Given the description of an element on the screen output the (x, y) to click on. 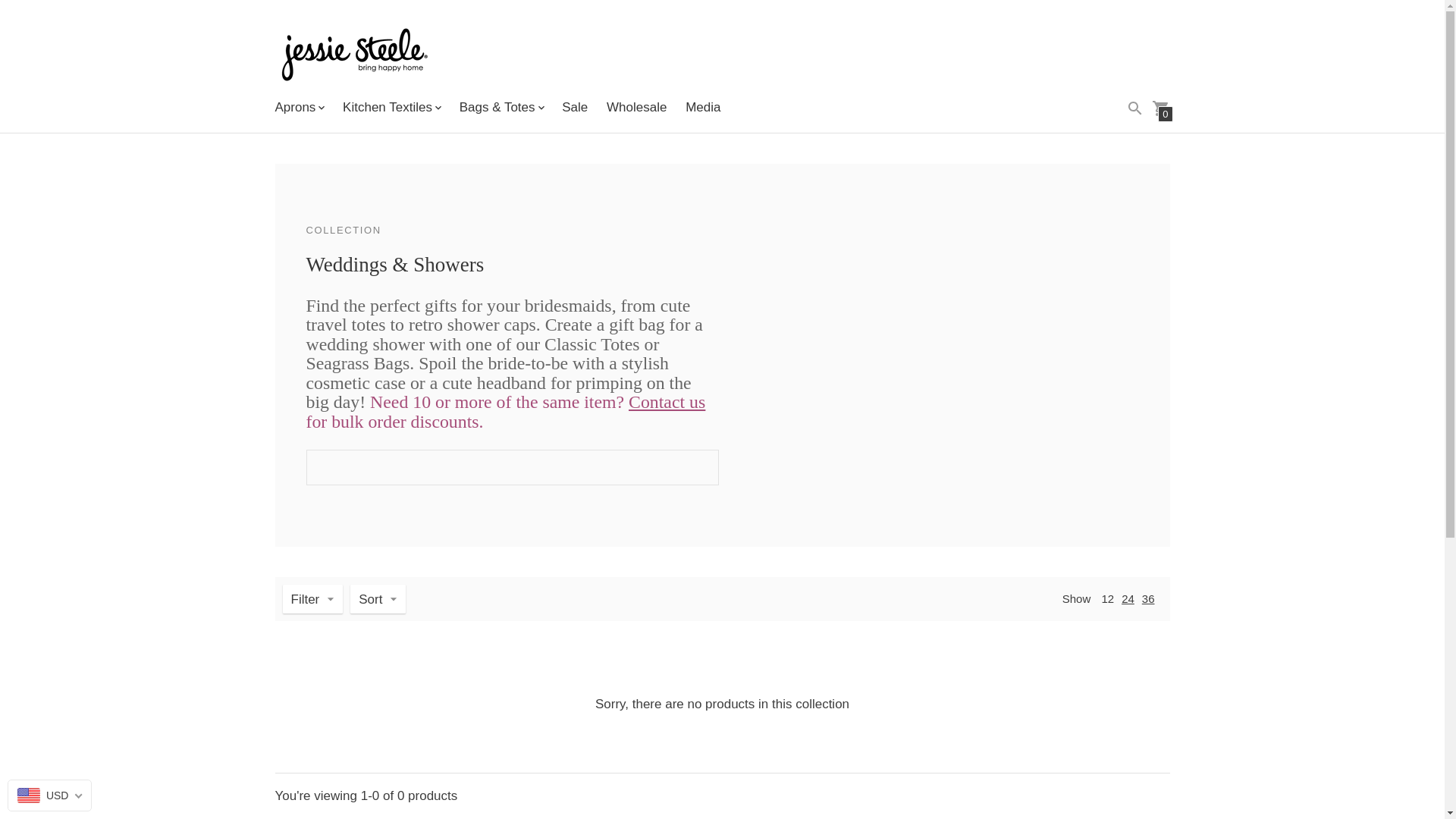
contact us for bulk discounts (666, 401)
Sale (575, 106)
Aprons (299, 107)
0 (1160, 108)
Kitchen Textiles (391, 107)
Media (702, 106)
Wholesale (636, 106)
